Given the description of an element on the screen output the (x, y) to click on. 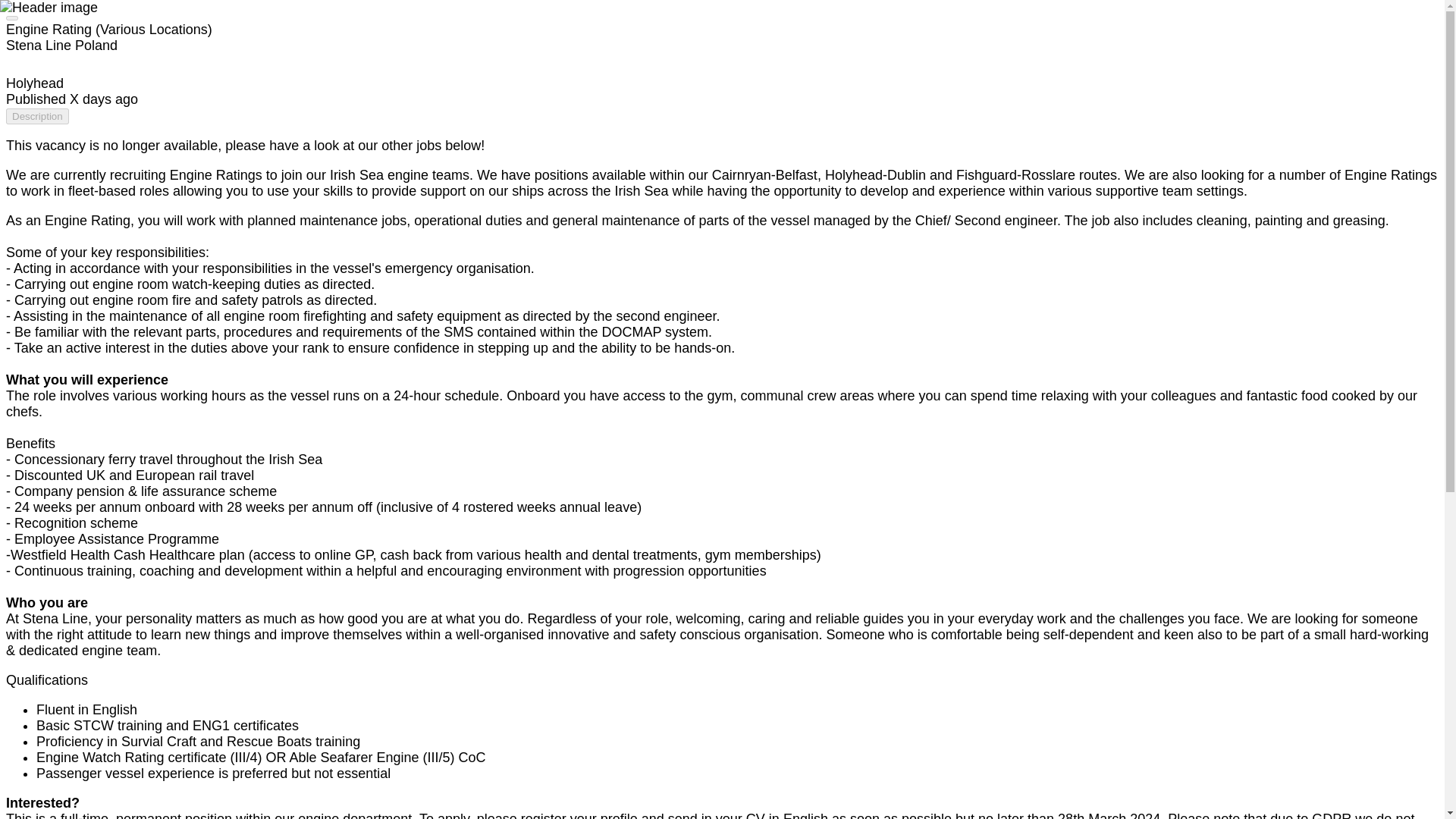
Description (36, 116)
